Given the description of an element on the screen output the (x, y) to click on. 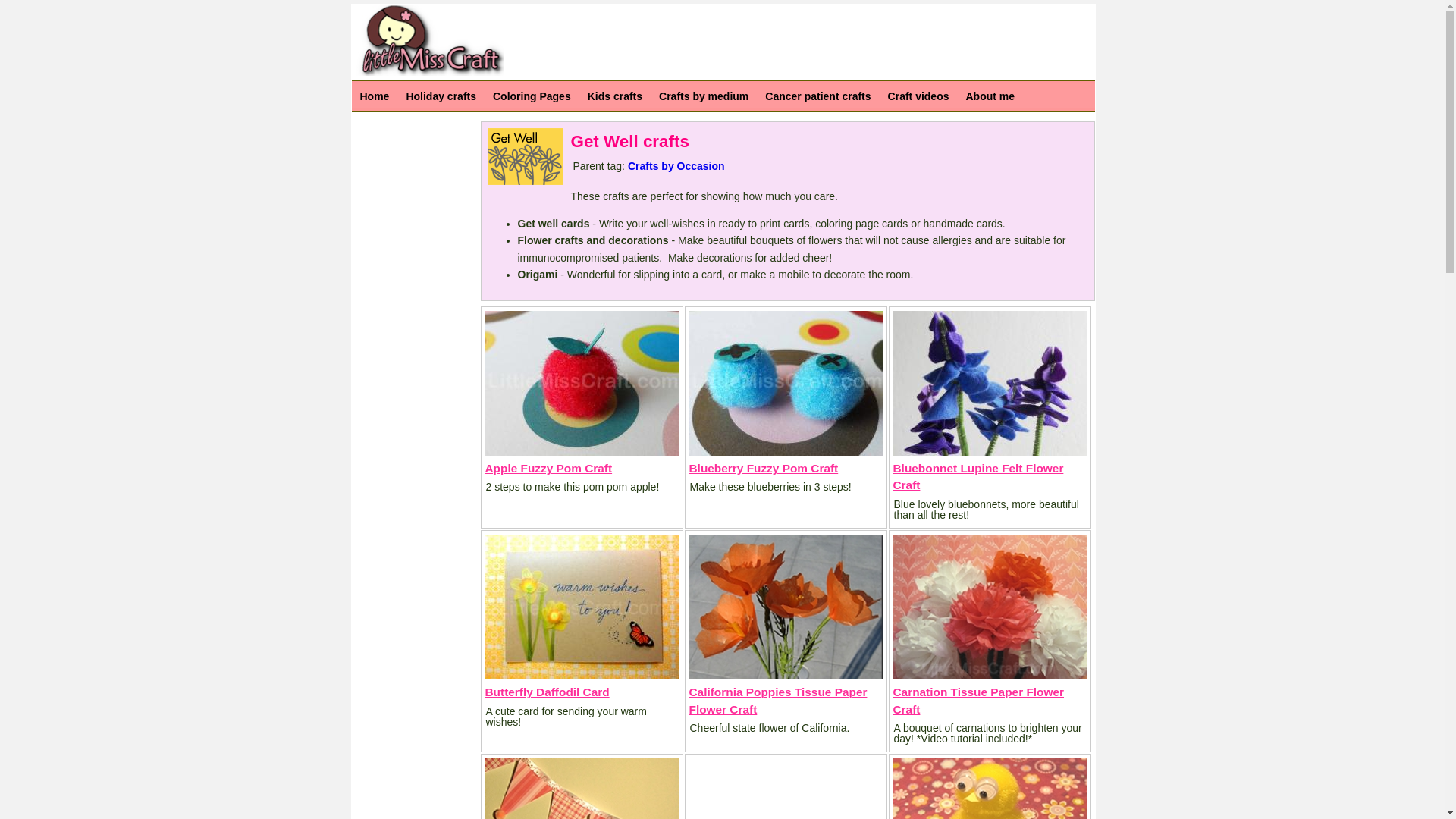
Carnation Tissue Paper Flower Craft (978, 699)
Craft videos (918, 96)
Crafts by Occasion (676, 165)
Apple Fuzzy Pom Craft (548, 468)
California Poppies Tissue Paper Flower Craft (777, 699)
Blueberry Fuzzy Pom Craft (763, 468)
Butterfly Daffodil Card (547, 691)
Crafts by medium (703, 96)
About me (989, 96)
Cancer patient crafts (818, 96)
